Given the description of an element on the screen output the (x, y) to click on. 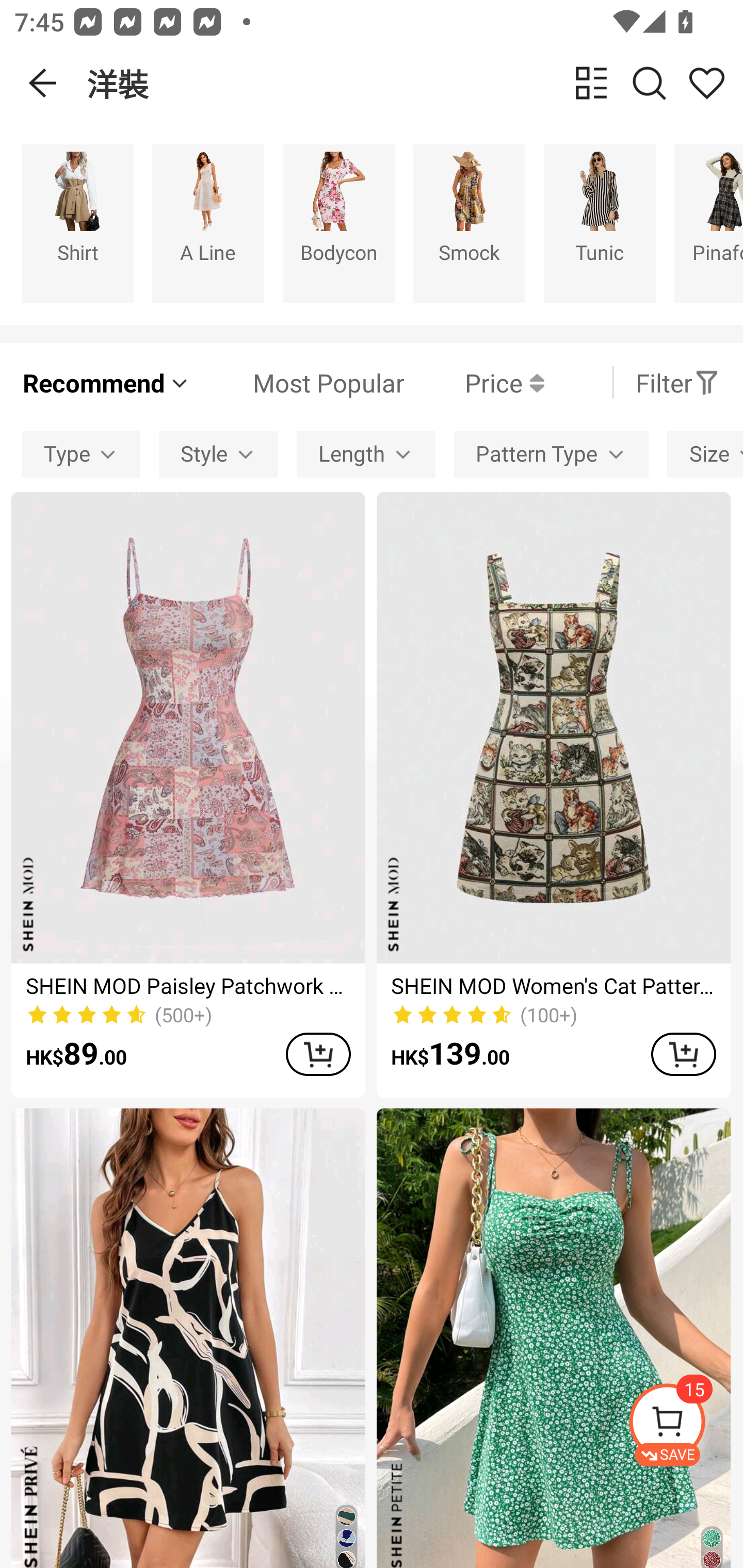
洋裝 change view Search Share (414, 82)
change view (591, 82)
Search (648, 82)
Share (706, 82)
Shirt (77, 223)
A Line (208, 223)
Bodycon (338, 223)
Smock (469, 223)
Tunic (599, 223)
Pinafore (708, 223)
Recommend (106, 382)
Most Popular (297, 382)
Price (474, 382)
Filter (677, 382)
Type (80, 454)
Style (218, 454)
Length (365, 454)
Pattern Type (550, 454)
Size (705, 454)
ADD TO CART (318, 1054)
ADD TO CART (683, 1054)
SHEIN Privé Graphic Print Cami Dress (188, 1338)
SAVE (685, 1424)
